Given the description of an element on the screen output the (x, y) to click on. 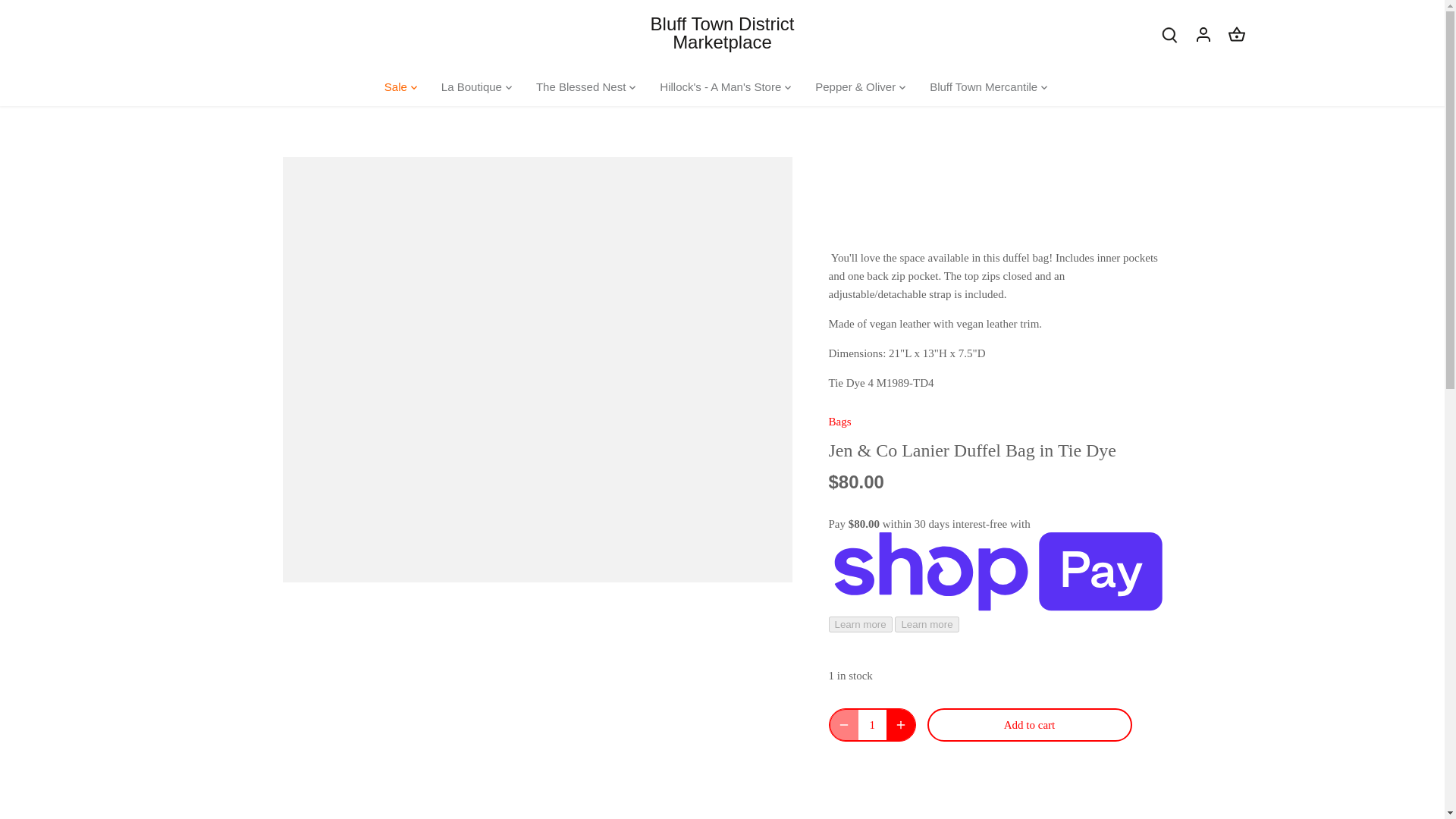
Bluff Town District Marketplace (721, 33)
The Blessed Nest (580, 86)
Sale (401, 86)
La Boutique (471, 86)
1 (872, 725)
